Given the description of an element on the screen output the (x, y) to click on. 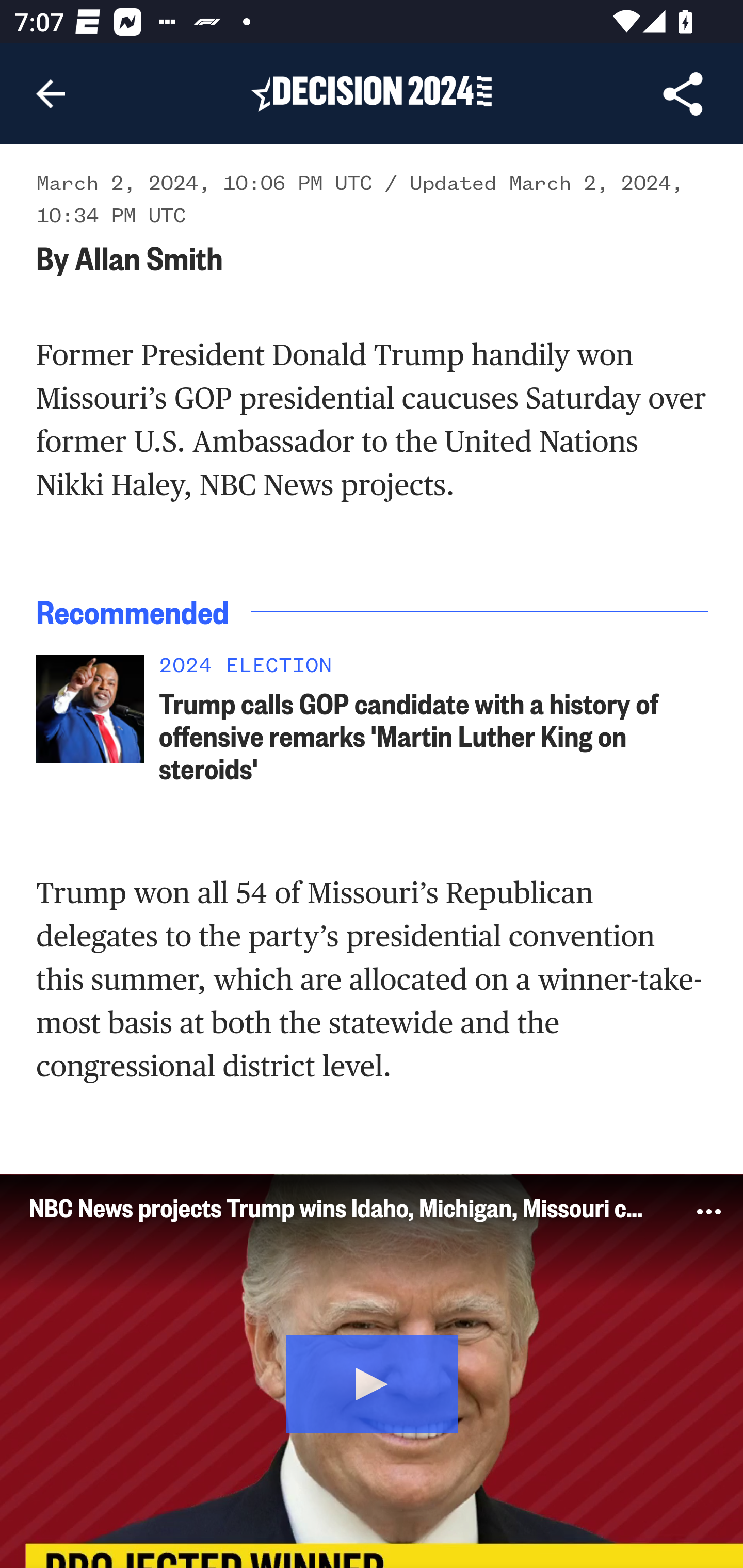
Navigate up (50, 93)
Share Article, button (683, 94)
Header, Decision 2024 (371, 93)
2024 ELECTION (434, 671)
Video Player Unable to play media. Play (371, 1371)
Play (372, 1381)
